Given the description of an element on the screen output the (x, y) to click on. 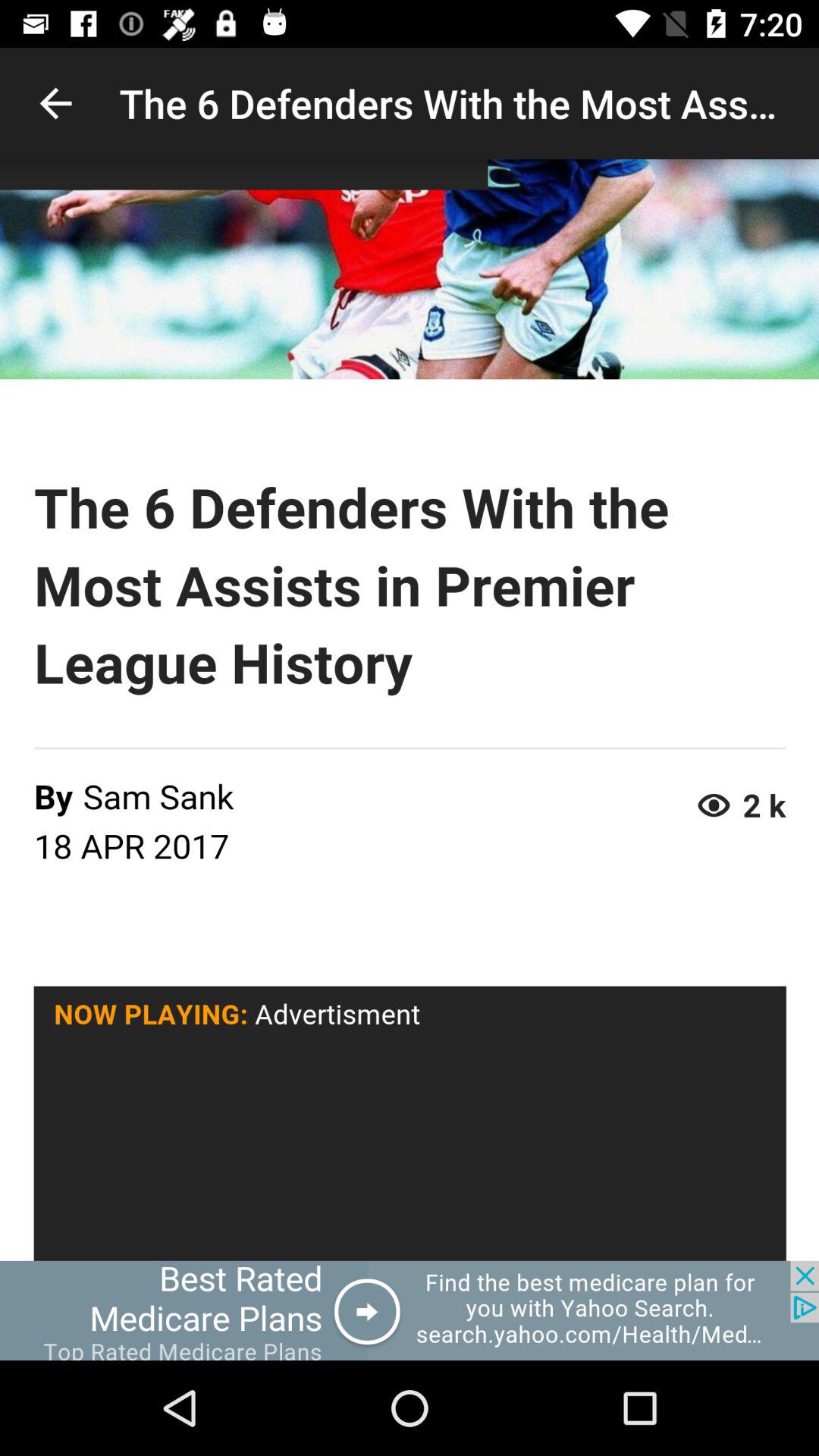
advertisement (409, 1310)
